Given the description of an element on the screen output the (x, y) to click on. 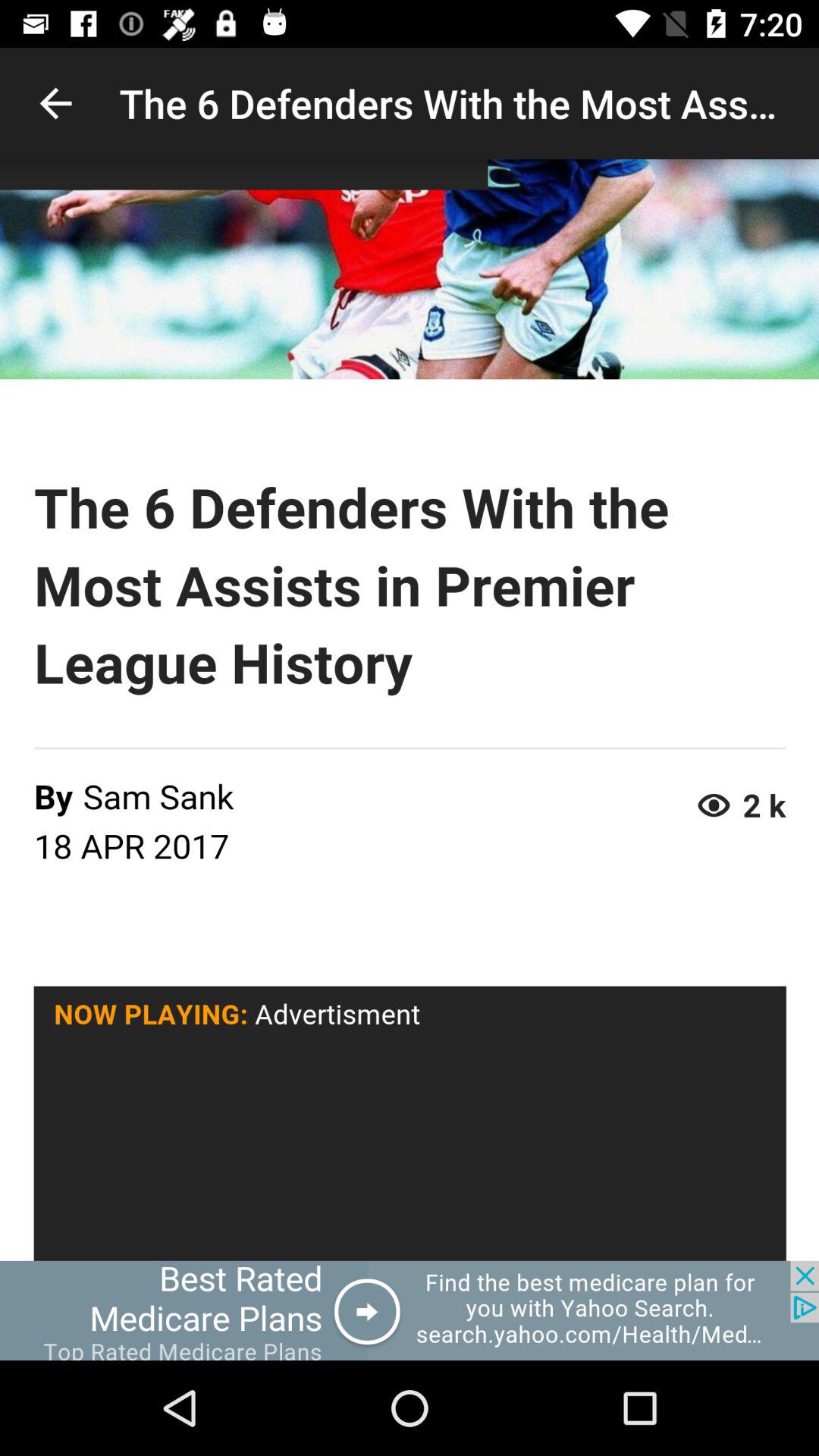
advertisement (409, 1310)
